Given the description of an element on the screen output the (x, y) to click on. 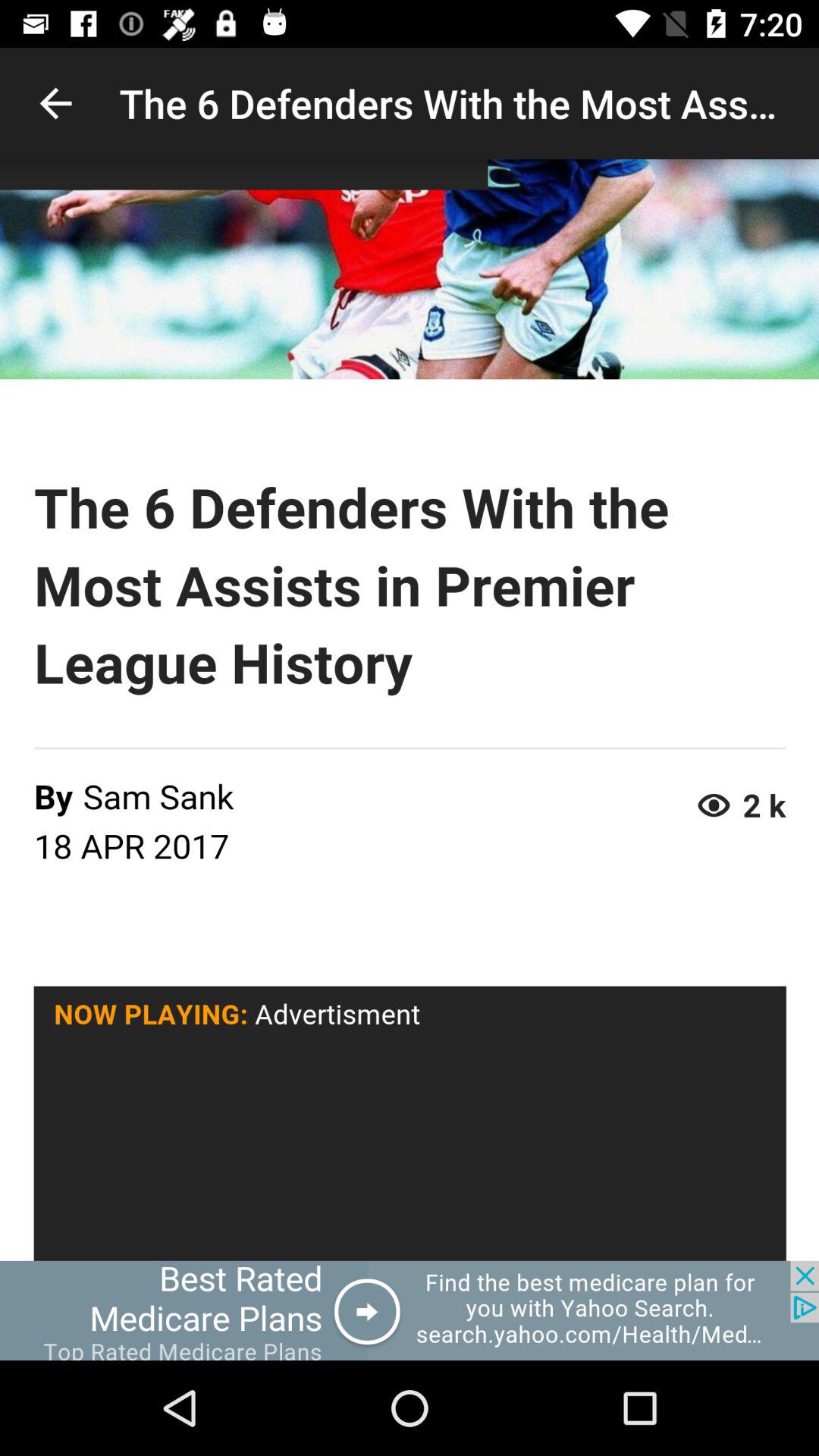
advertisement (409, 1310)
